Given the description of an element on the screen output the (x, y) to click on. 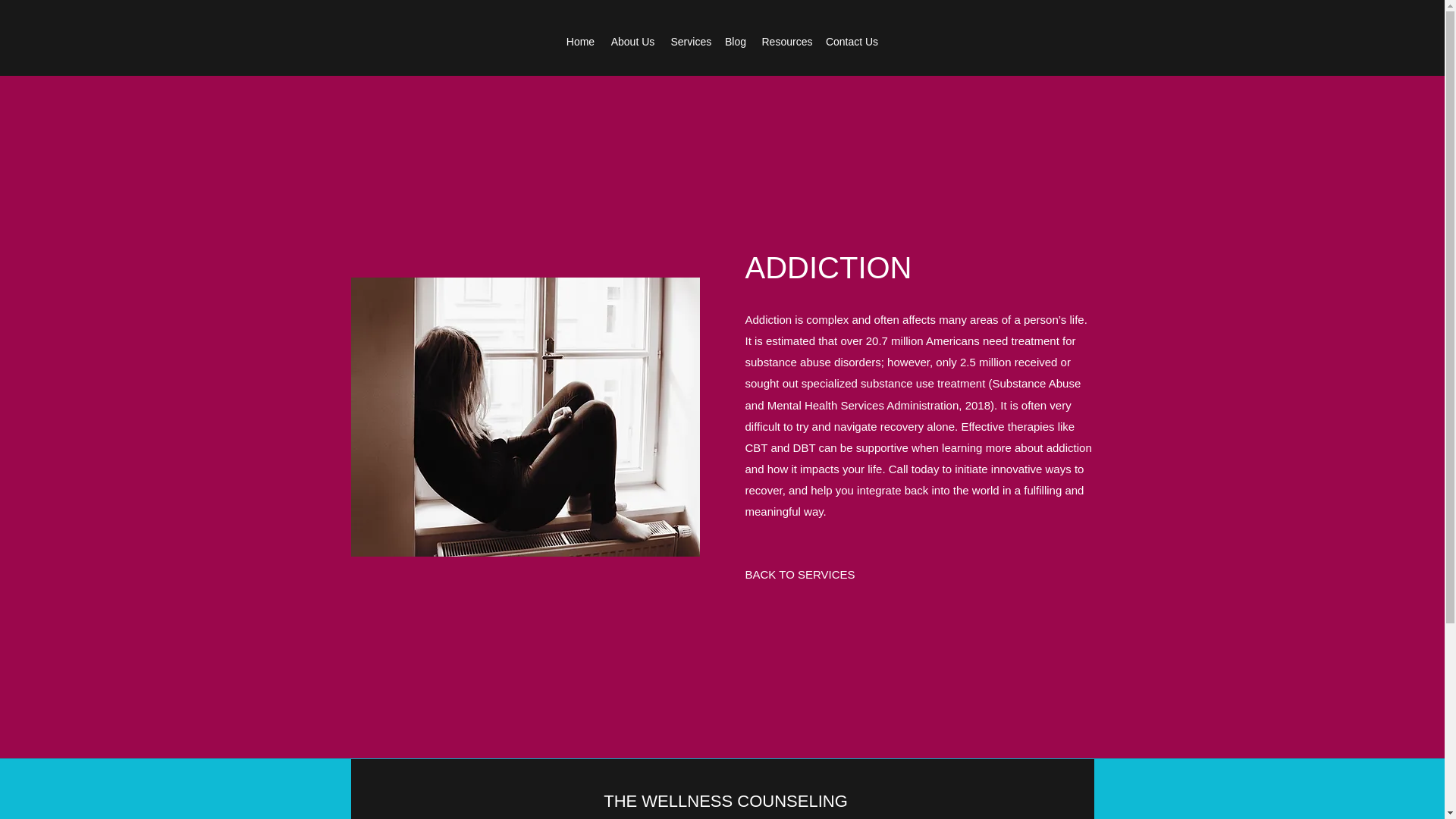
About Us (632, 41)
Contact Us (850, 41)
Home (579, 41)
THE WELLNESS COUNSELING GROUP (725, 805)
Services (689, 41)
BACK TO SERVICES (799, 574)
Resources (785, 41)
Blog (735, 41)
